Given the description of an element on the screen output the (x, y) to click on. 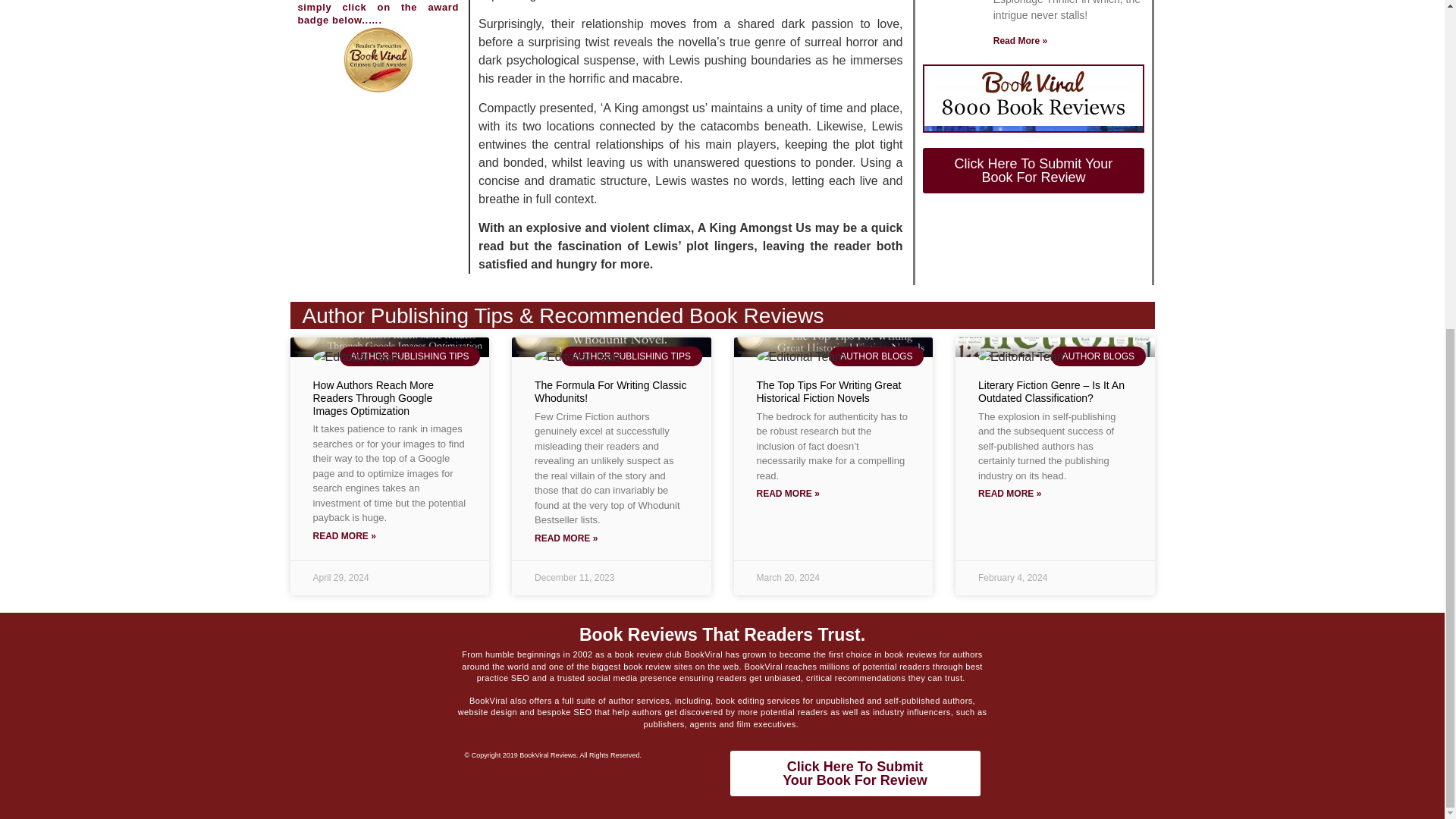
Click Here To Submit Your Book For Review (1032, 170)
The Formula For Writing Classic Whodunits! (609, 391)
The Top Tips For Writing Great Historical Fiction Novels (854, 773)
